Given the description of an element on the screen output the (x, y) to click on. 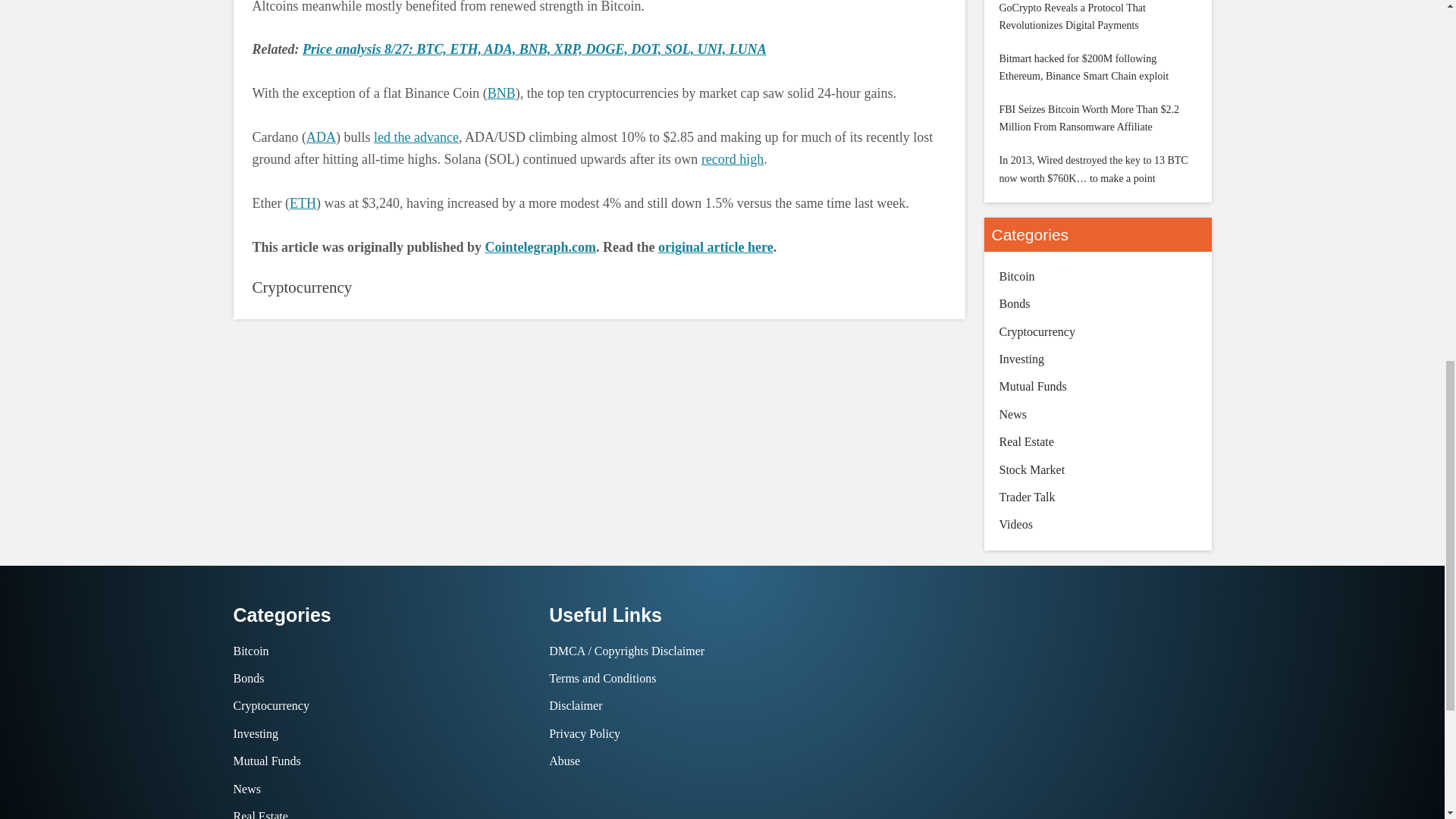
Cryptocurrency (301, 286)
